Given the description of an element on the screen output the (x, y) to click on. 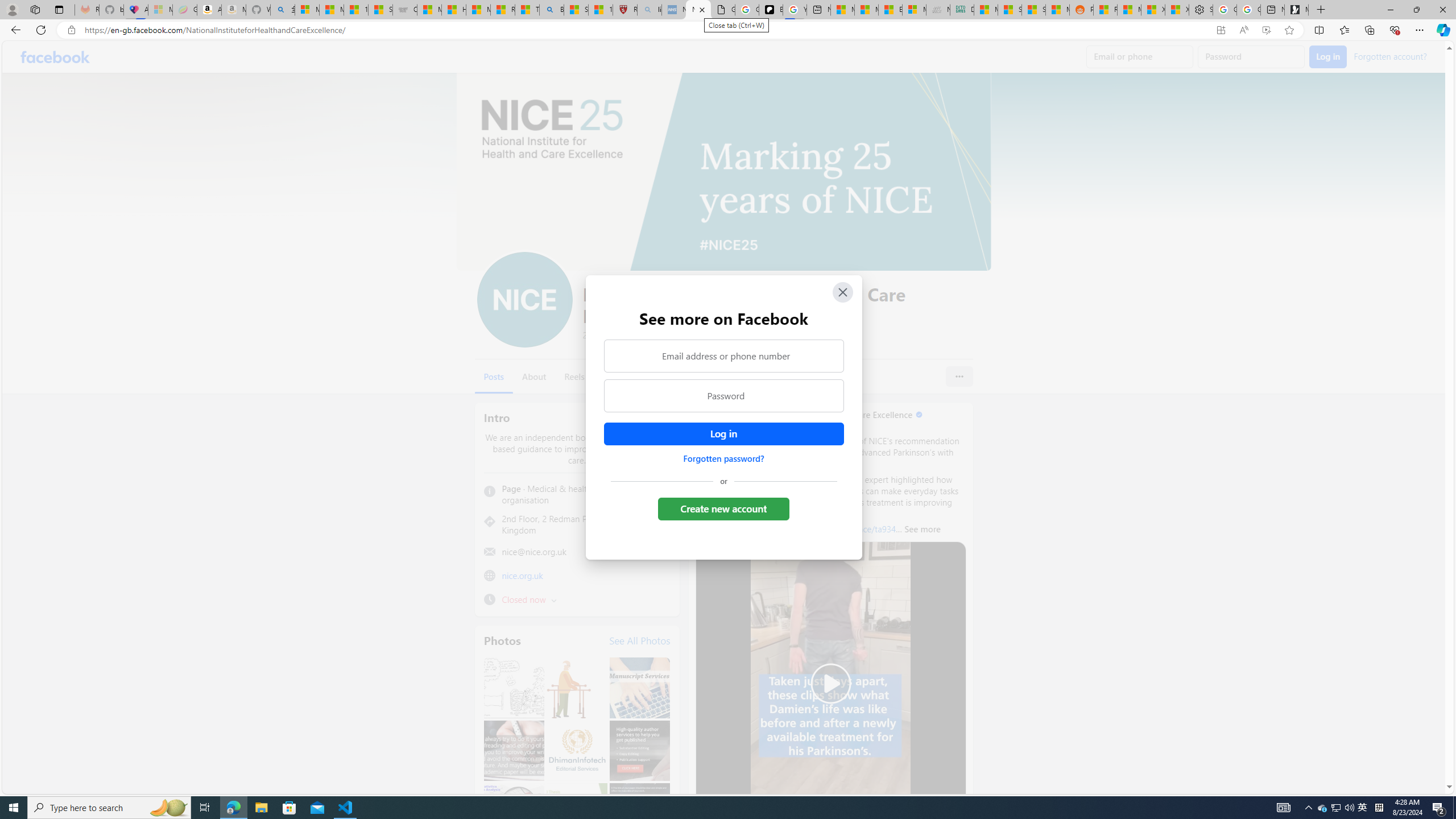
Be Smart | creating Science videos | Patreon (770, 9)
Recipes - MSN (502, 9)
Email address or phone number (723, 355)
Microsoft Start Gaming (1296, 9)
Bing (551, 9)
